Given the description of an element on the screen output the (x, y) to click on. 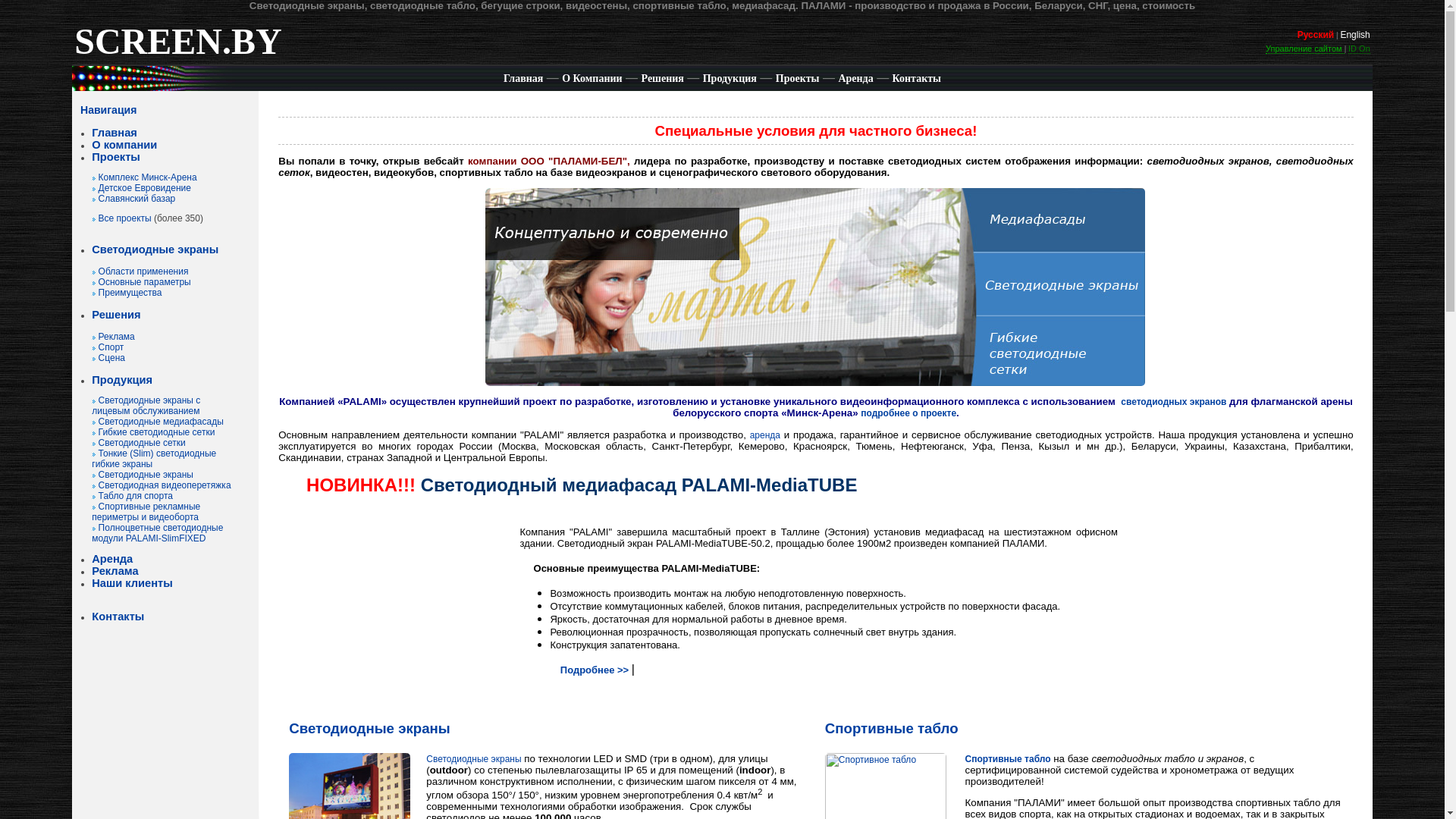
ID On Element type: text (1359, 48)
English Element type: text (1354, 34)
SCREEN.BY Element type: text (177, 50)
